Given the description of an element on the screen output the (x, y) to click on. 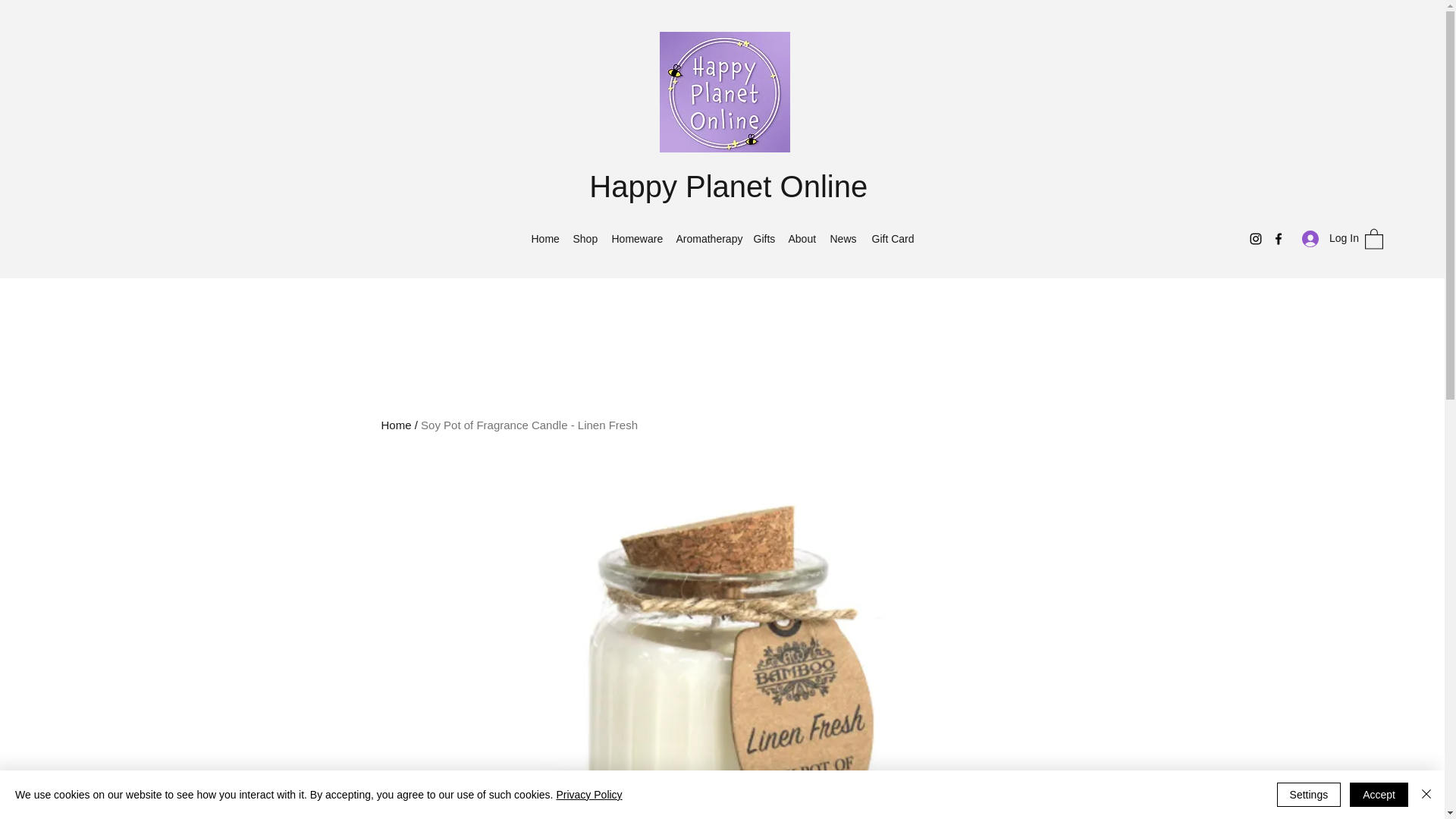
News (842, 238)
Aromatherapy (706, 238)
Gift Card (892, 238)
Home (543, 238)
About (801, 238)
Log In (1325, 238)
Shop (585, 238)
Soy Pot of Fragrance Candle - Linen Fresh (528, 424)
Gifts (762, 238)
Accept (1378, 794)
